Given the description of an element on the screen output the (x, y) to click on. 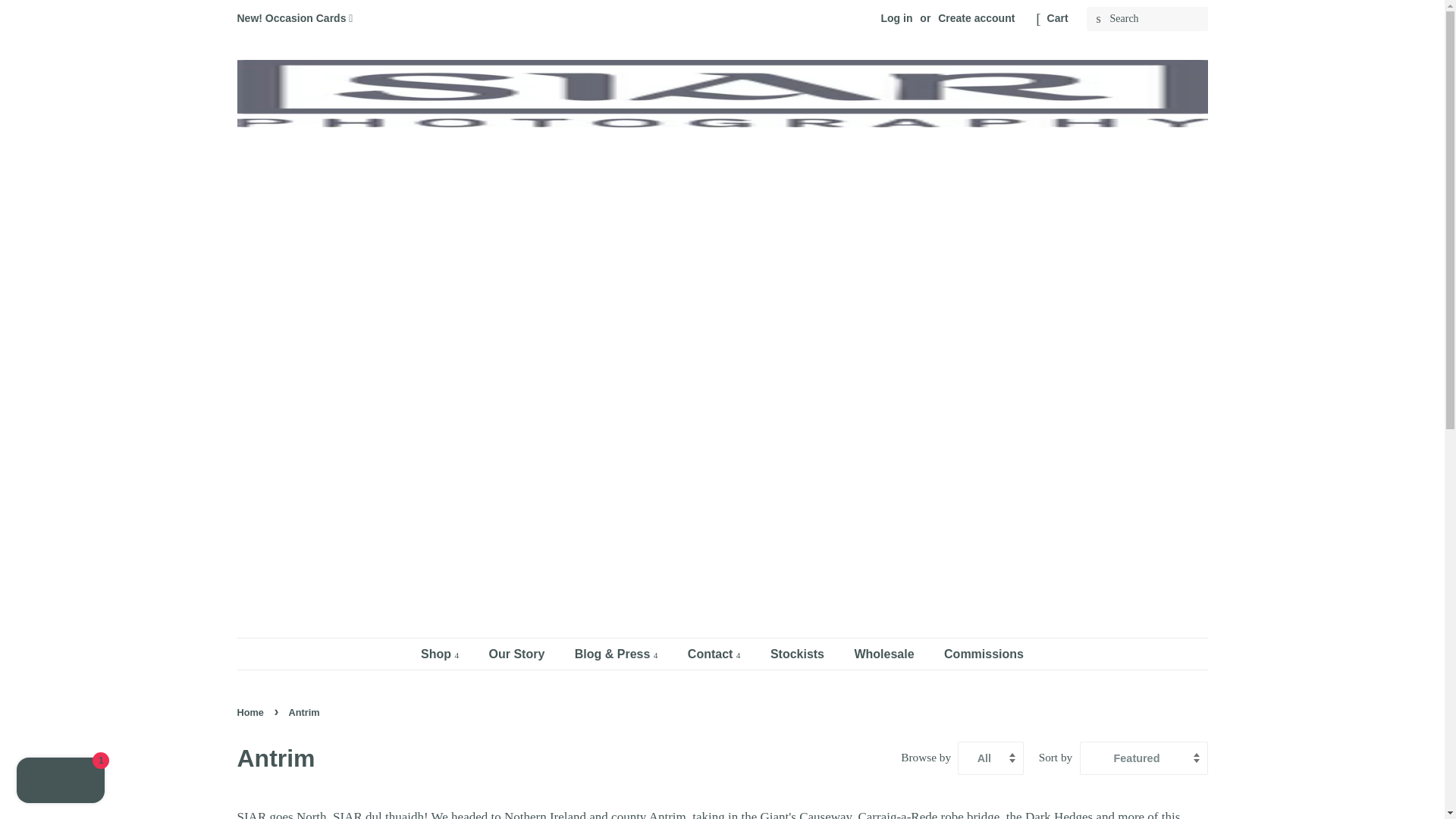
Shopify online store chat (60, 781)
Search (1097, 18)
Cart (1057, 18)
Log in (896, 18)
Create account (975, 18)
Back to the frontpage (250, 712)
